Given the description of an element on the screen output the (x, y) to click on. 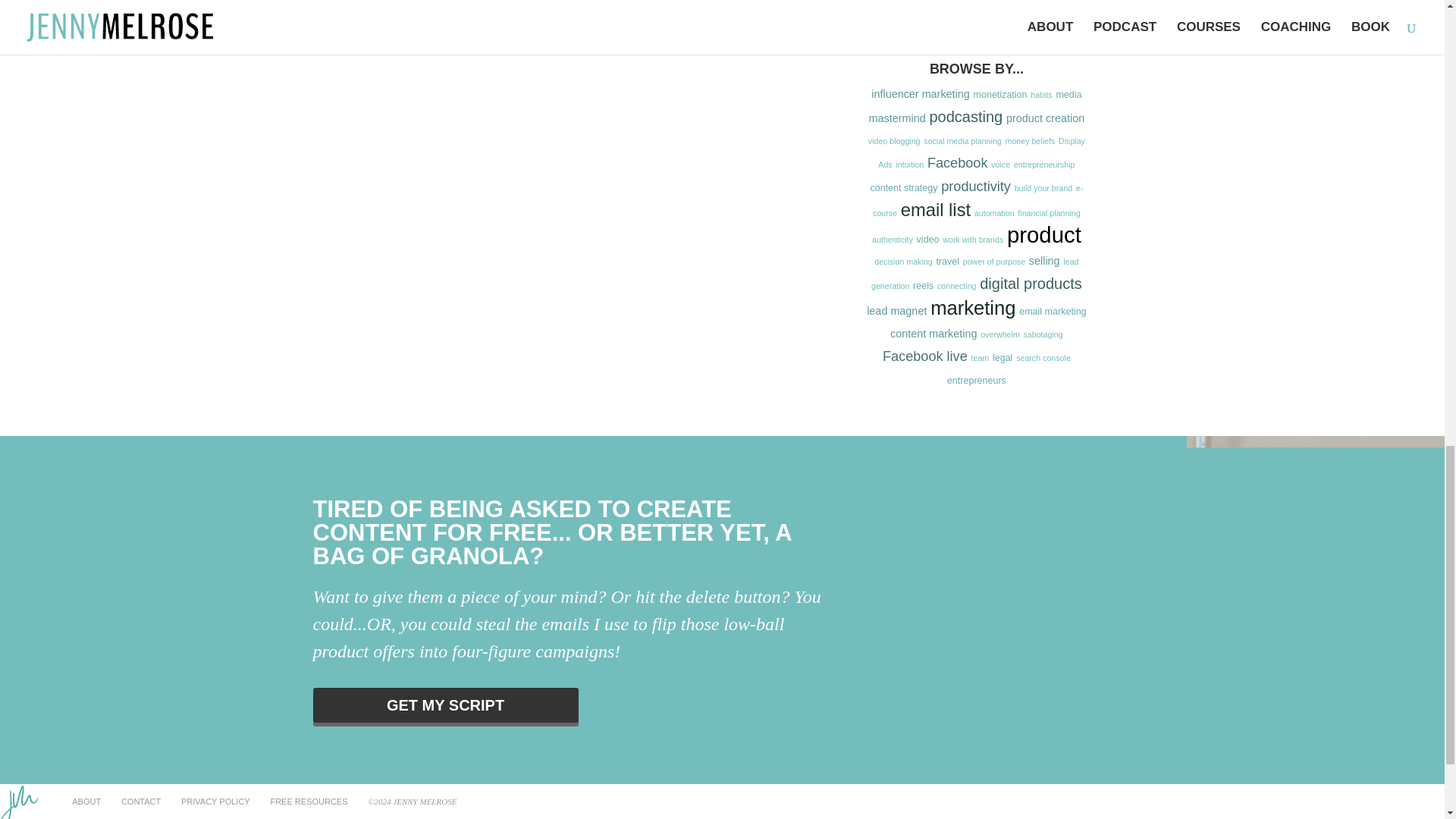
product creation (1045, 118)
media (1068, 94)
social media planning (962, 140)
habits (1040, 94)
mastermind (897, 118)
build your brand (1042, 187)
productivity (975, 186)
money beliefs (1030, 140)
Search (1061, 8)
intuition (909, 163)
